Given the description of an element on the screen output the (x, y) to click on. 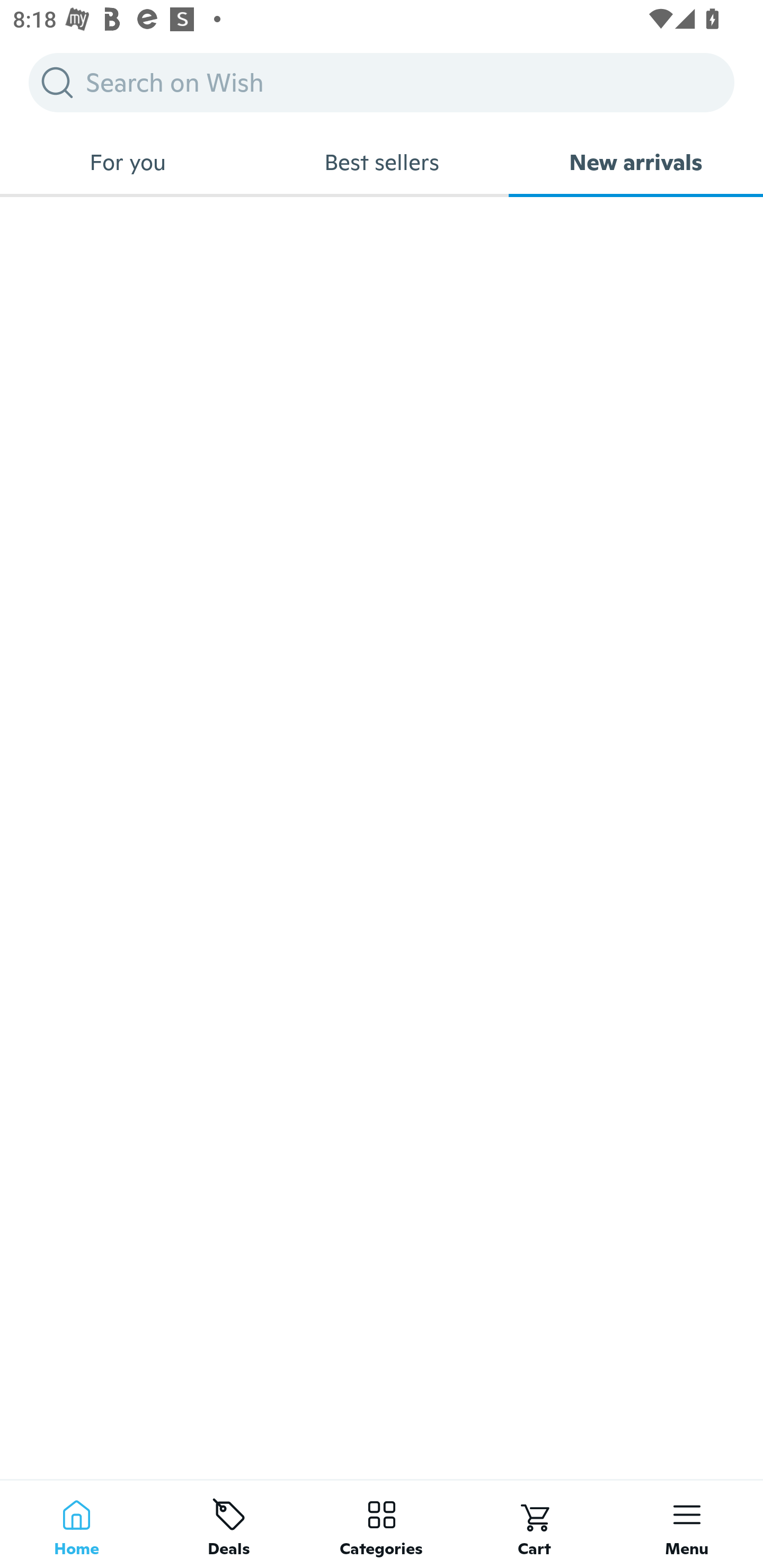
Search on Wish (381, 82)
For you (127, 161)
Best sellers (381, 161)
New arrivals (635, 161)
Home (76, 1523)
Deals (228, 1523)
Categories (381, 1523)
Cart (533, 1523)
Menu (686, 1523)
